Given the description of an element on the screen output the (x, y) to click on. 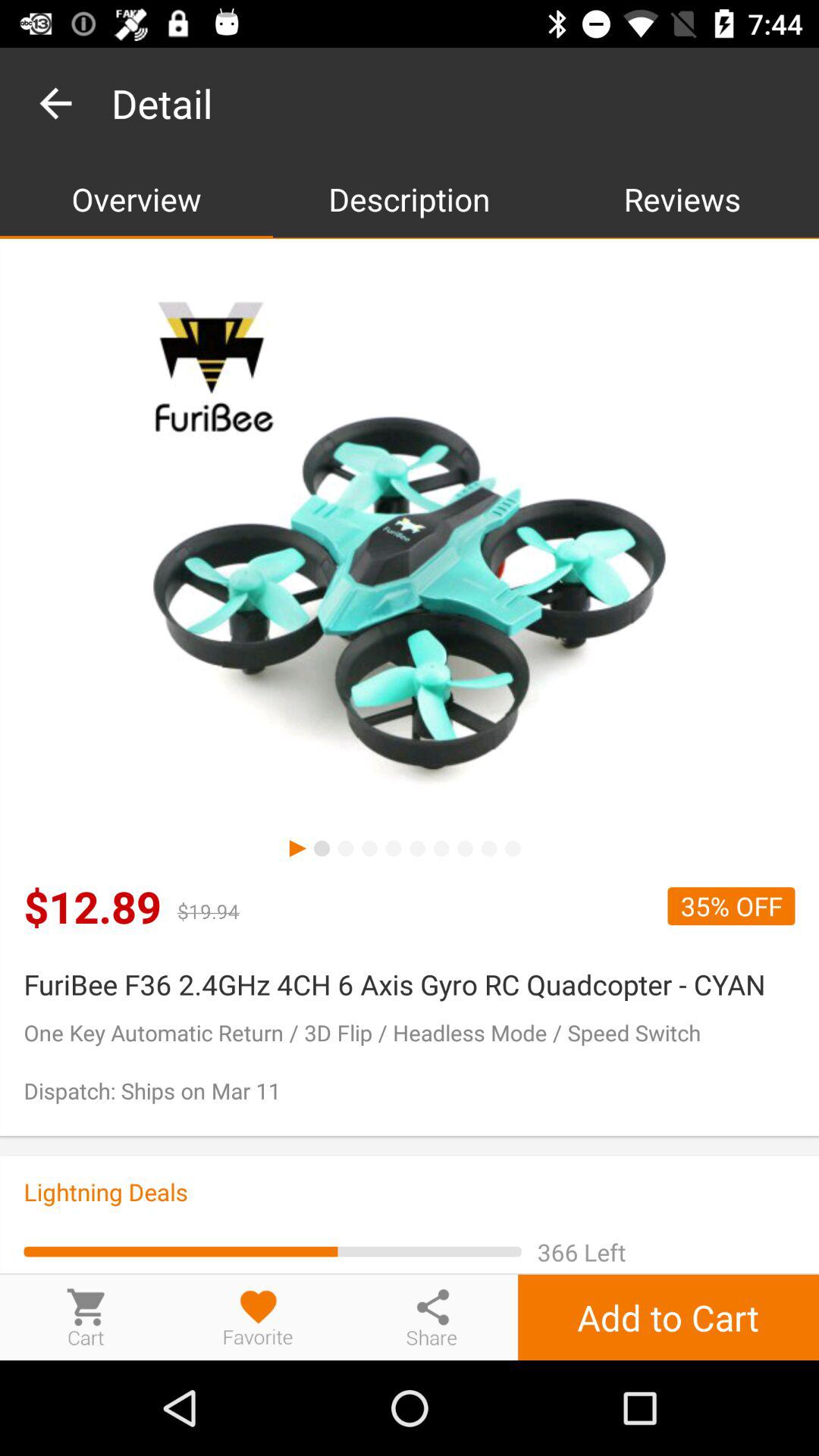
share the page (431, 1317)
